Given the description of an element on the screen output the (x, y) to click on. 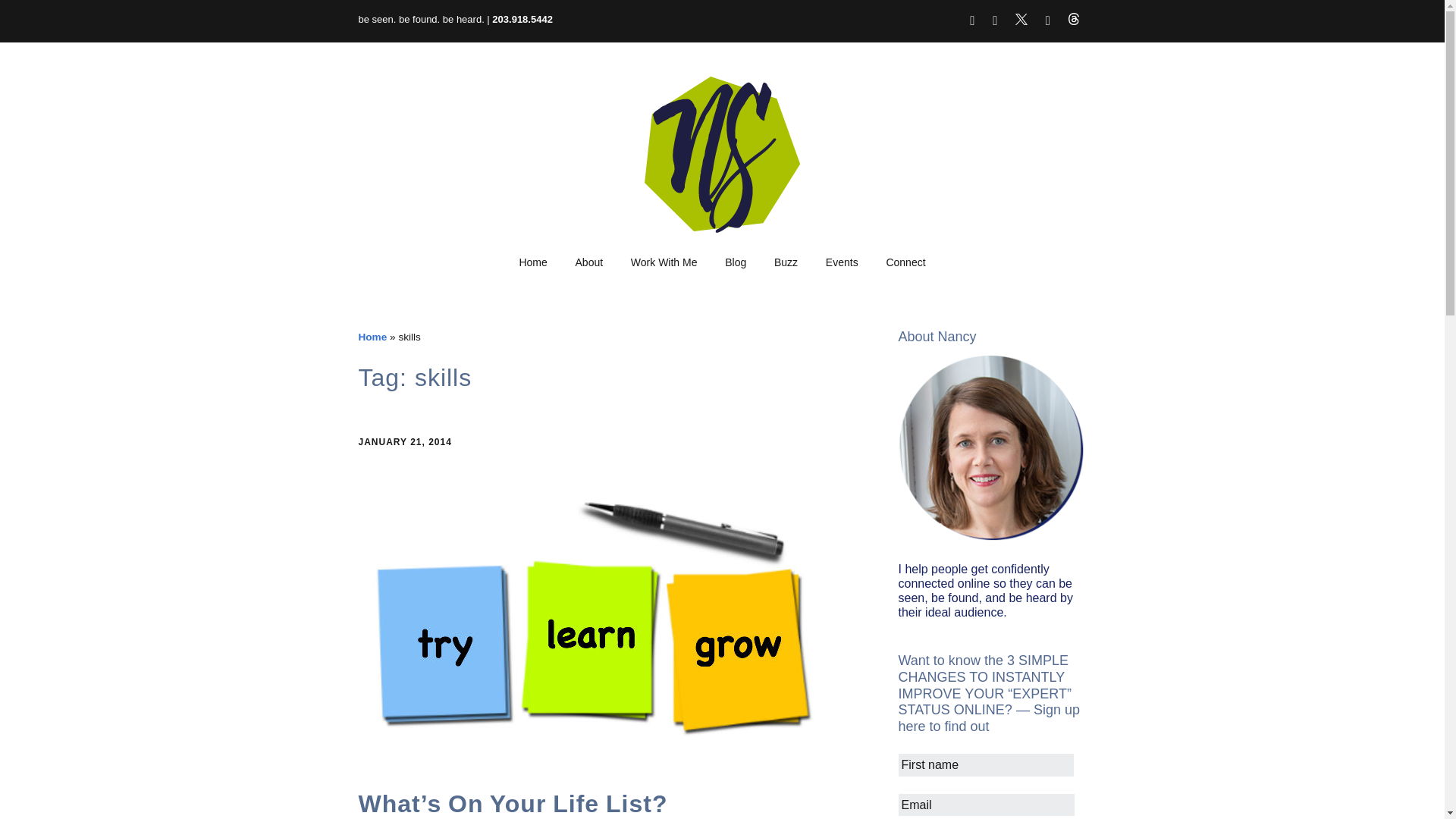
Connect (905, 263)
About (589, 263)
Work With Me (664, 263)
203.918.5442 (522, 19)
Home (372, 337)
Buzz (785, 263)
JANUARY 21, 2014 (404, 441)
Events (841, 263)
Blog (735, 263)
Home (532, 263)
